Given the description of an element on the screen output the (x, y) to click on. 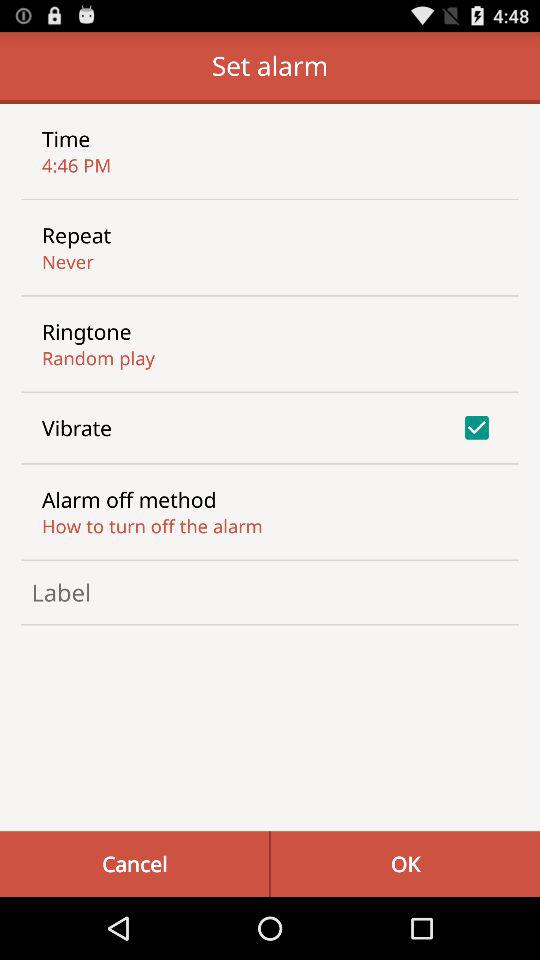
turn off the item above the alarm off method (77, 428)
